Given the description of an element on the screen output the (x, y) to click on. 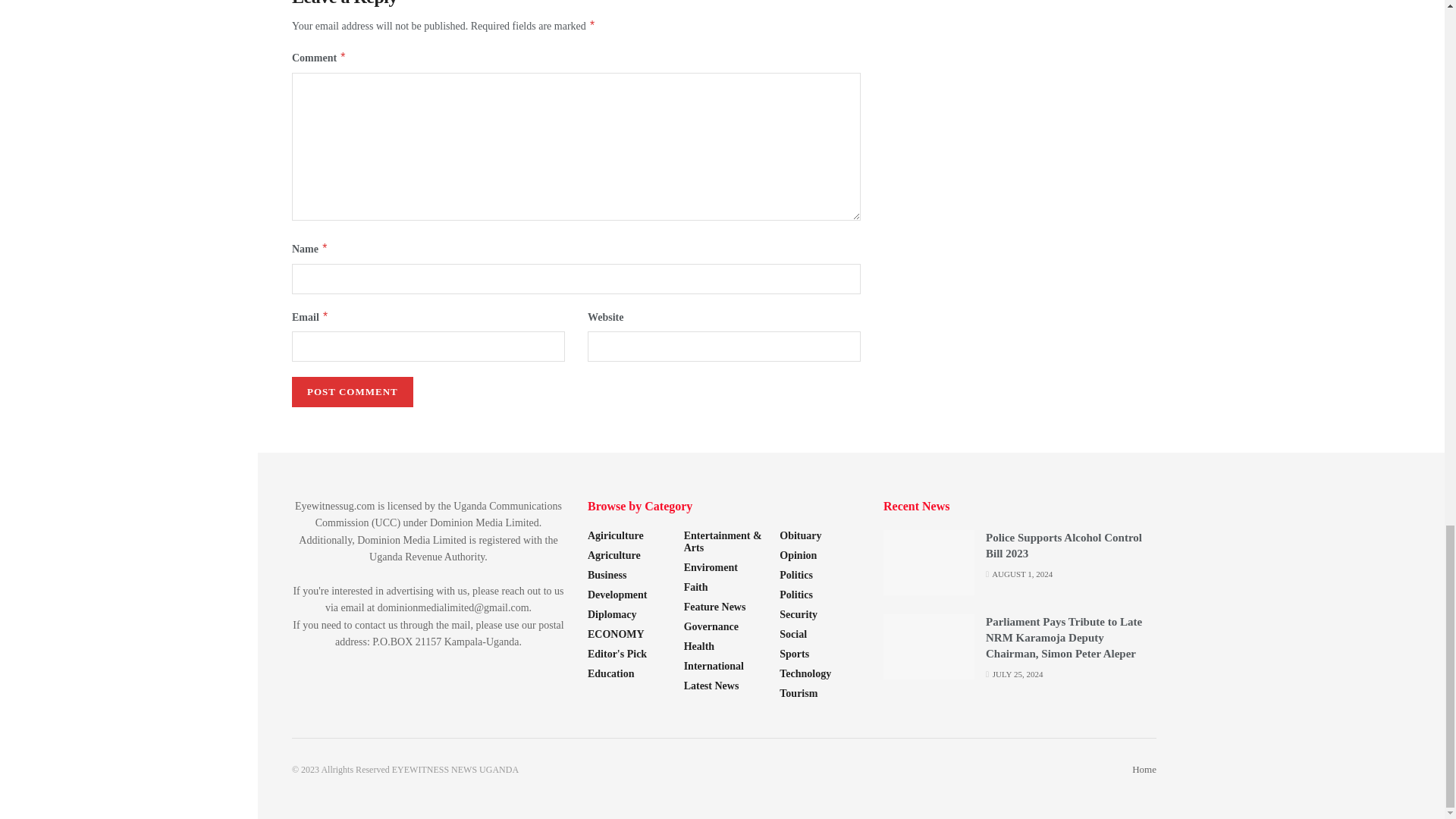
Post Comment (352, 391)
